Given the description of an element on the screen output the (x, y) to click on. 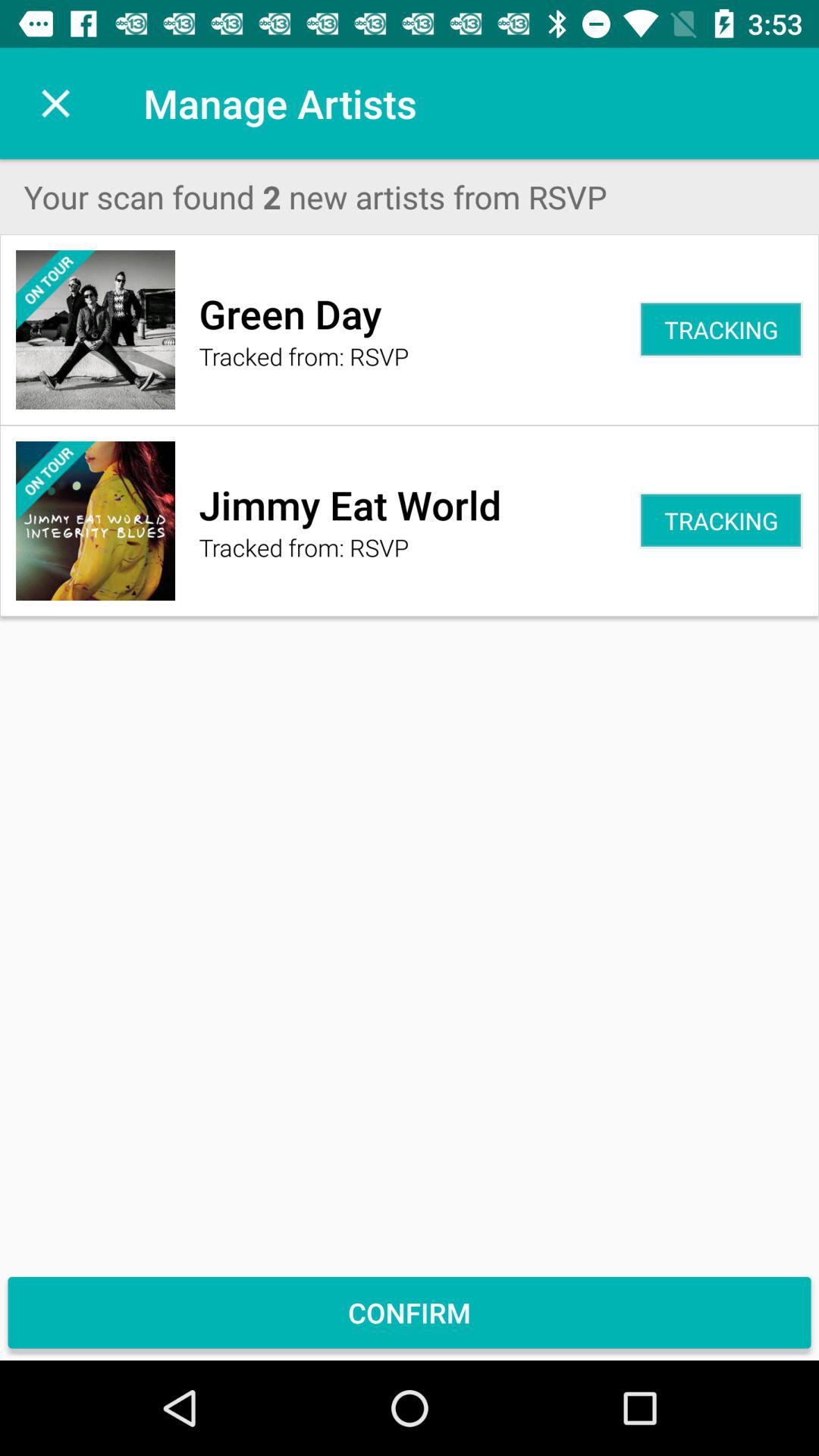
choose confirm (409, 1312)
